Given the description of an element on the screen output the (x, y) to click on. 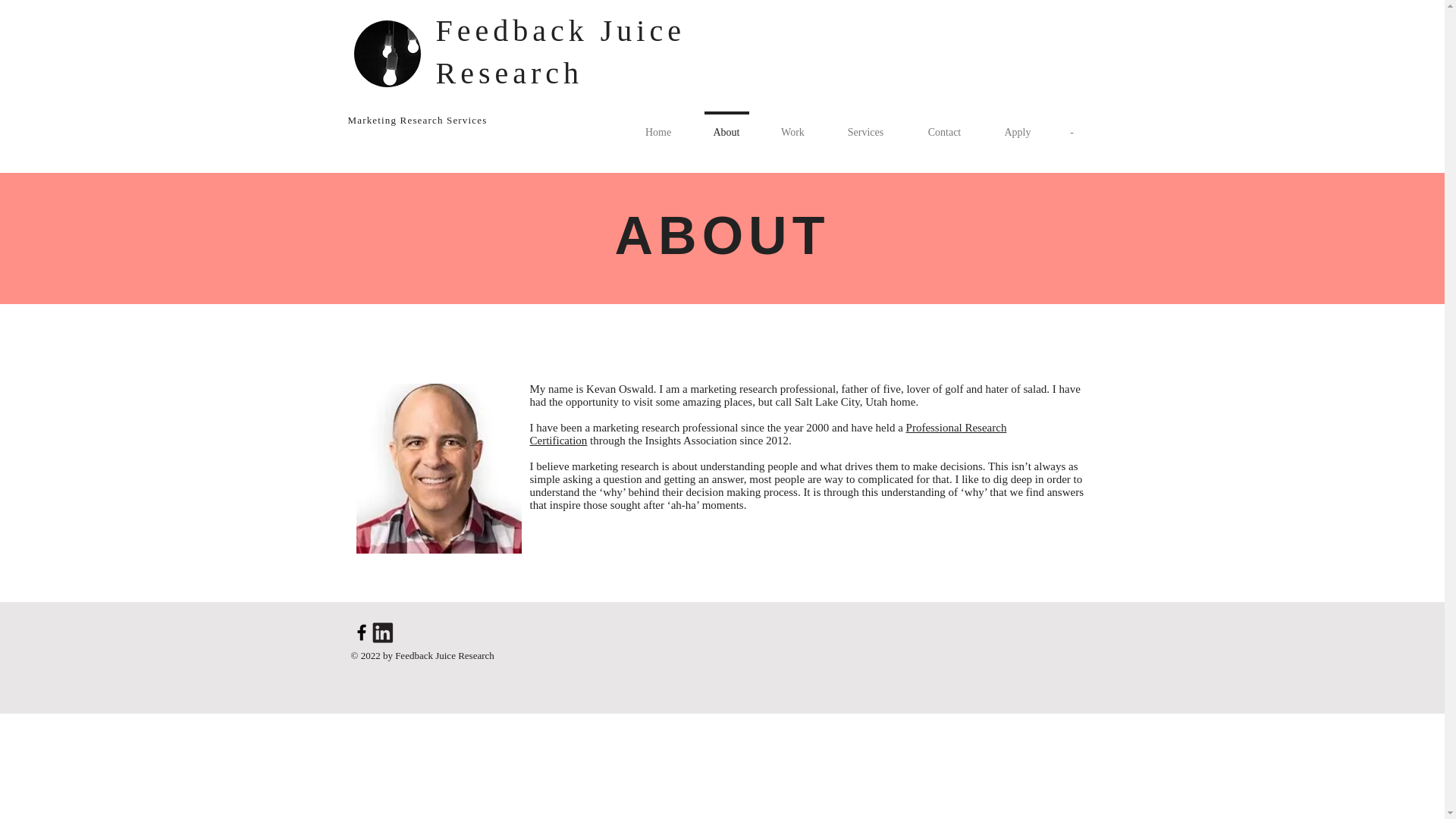
- (1072, 125)
Services (865, 125)
Apply (1016, 125)
Professional Research Certification (767, 433)
Home (658, 125)
About (726, 125)
Contact (943, 125)
Work (792, 125)
Feedback Juice  (566, 30)
Marketing Research Services (416, 120)
